Given the description of an element on the screen output the (x, y) to click on. 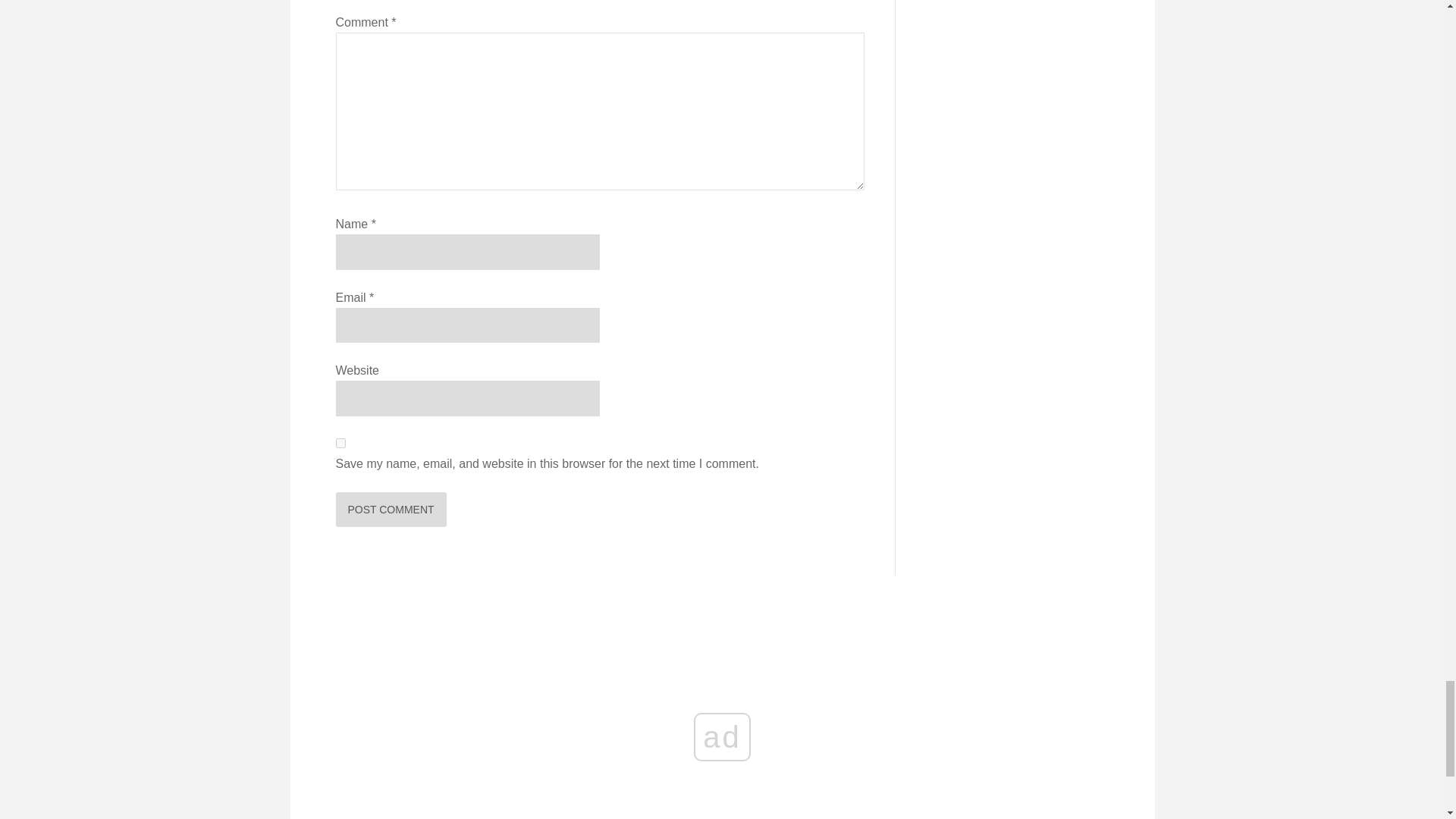
yes (339, 442)
Post Comment (389, 509)
